Given the description of an element on the screen output the (x, y) to click on. 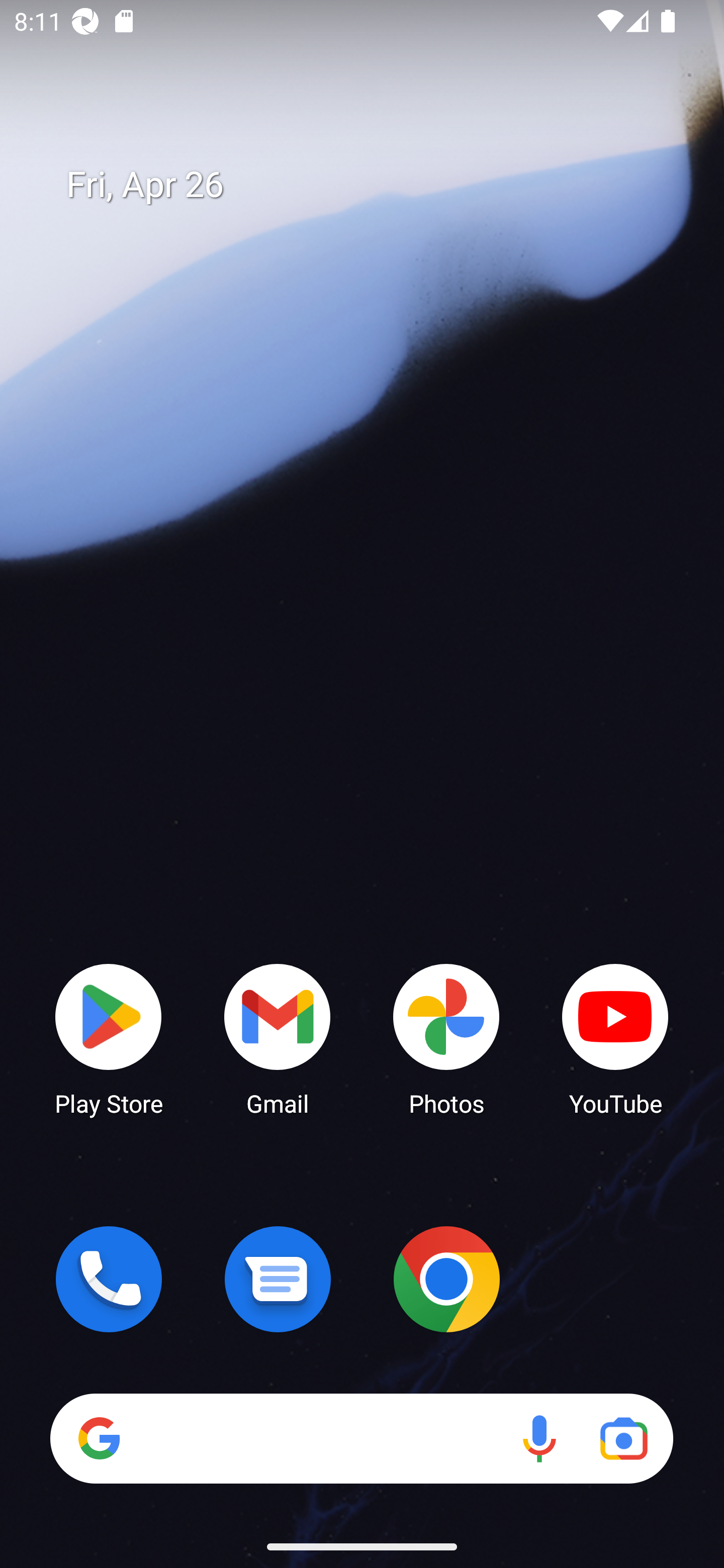
Fri, Apr 26 (375, 184)
Play Store (108, 1038)
Gmail (277, 1038)
Photos (445, 1038)
YouTube (615, 1038)
Phone (108, 1279)
Messages (277, 1279)
Chrome (446, 1279)
Search Voice search Google Lens (361, 1438)
Voice search (539, 1438)
Google Lens (623, 1438)
